Given the description of an element on the screen output the (x, y) to click on. 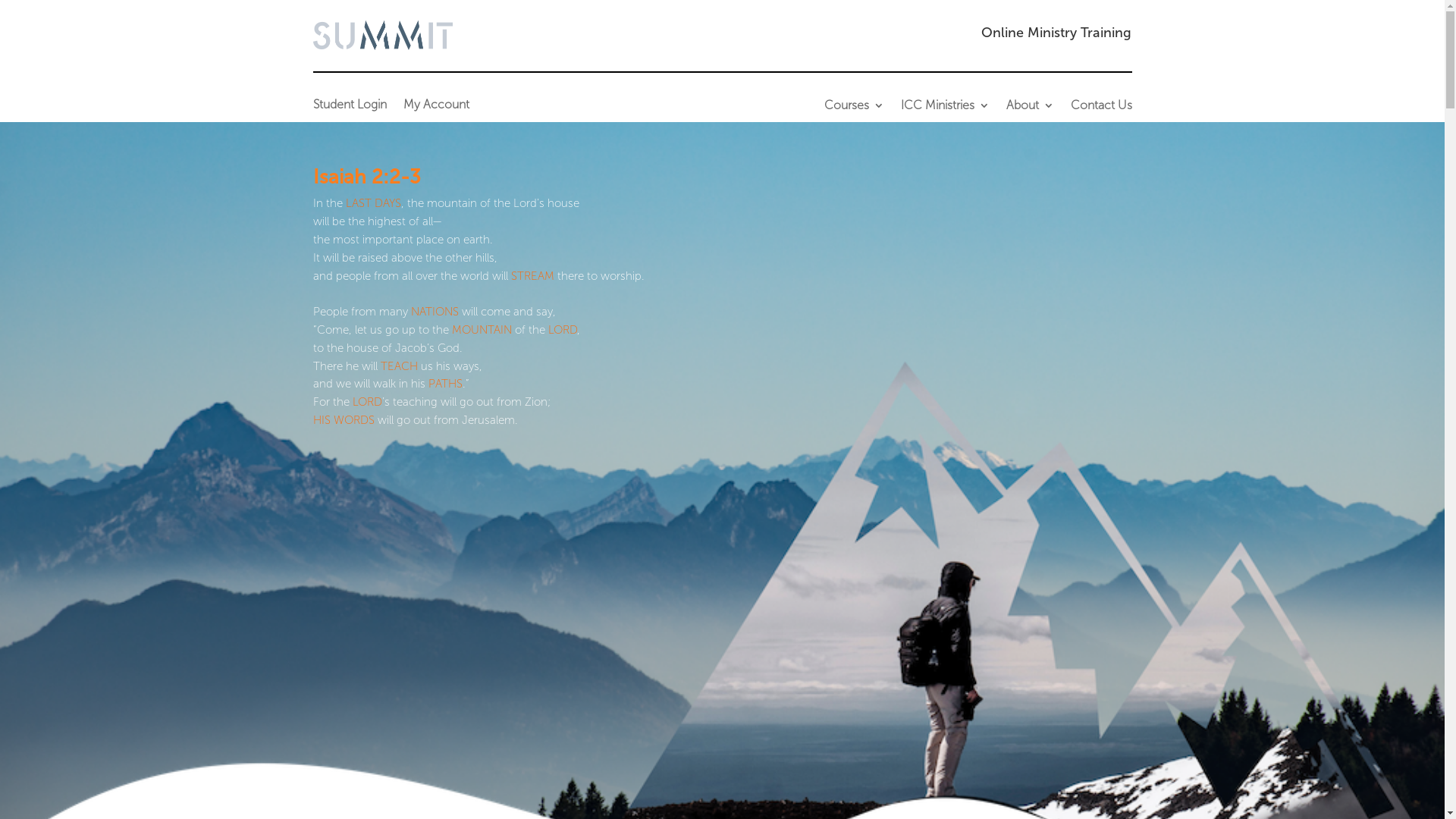
About Element type: text (1029, 108)
Student Login Element type: text (348, 107)
Courses Element type: text (853, 108)
Asset 7Logo Element type: hover (381, 35)
My Account Element type: text (436, 107)
ICC Ministries Element type: text (944, 108)
Contact Us Element type: text (1101, 108)
